Given the description of an element on the screen output the (x, y) to click on. 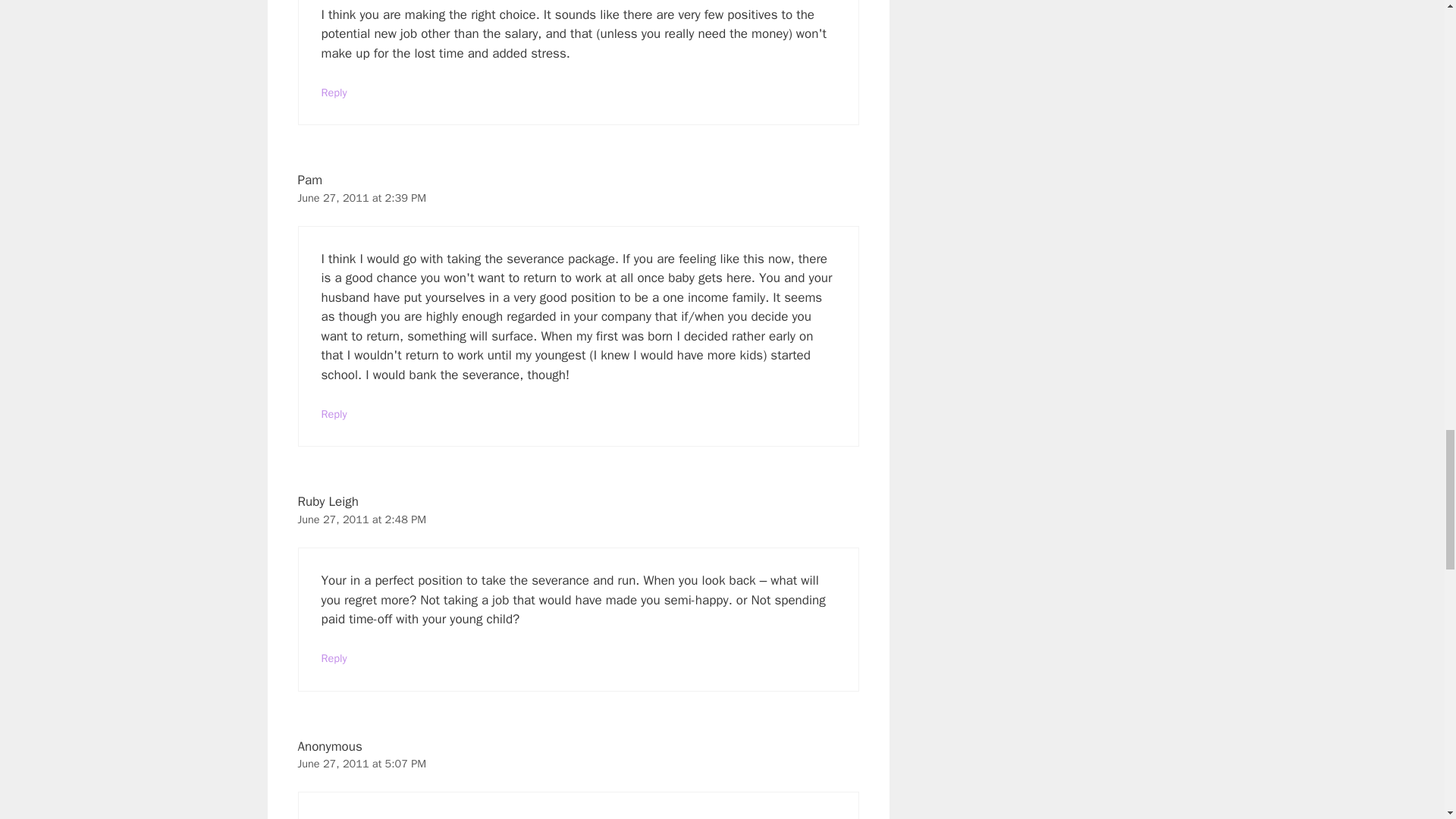
Reply (334, 92)
June 27, 2011 at 2:39 PM (361, 197)
June 27, 2011 at 5:07 PM (361, 763)
Reply (334, 413)
Reply (334, 658)
June 27, 2011 at 2:48 PM (361, 519)
